Given the description of an element on the screen output the (x, y) to click on. 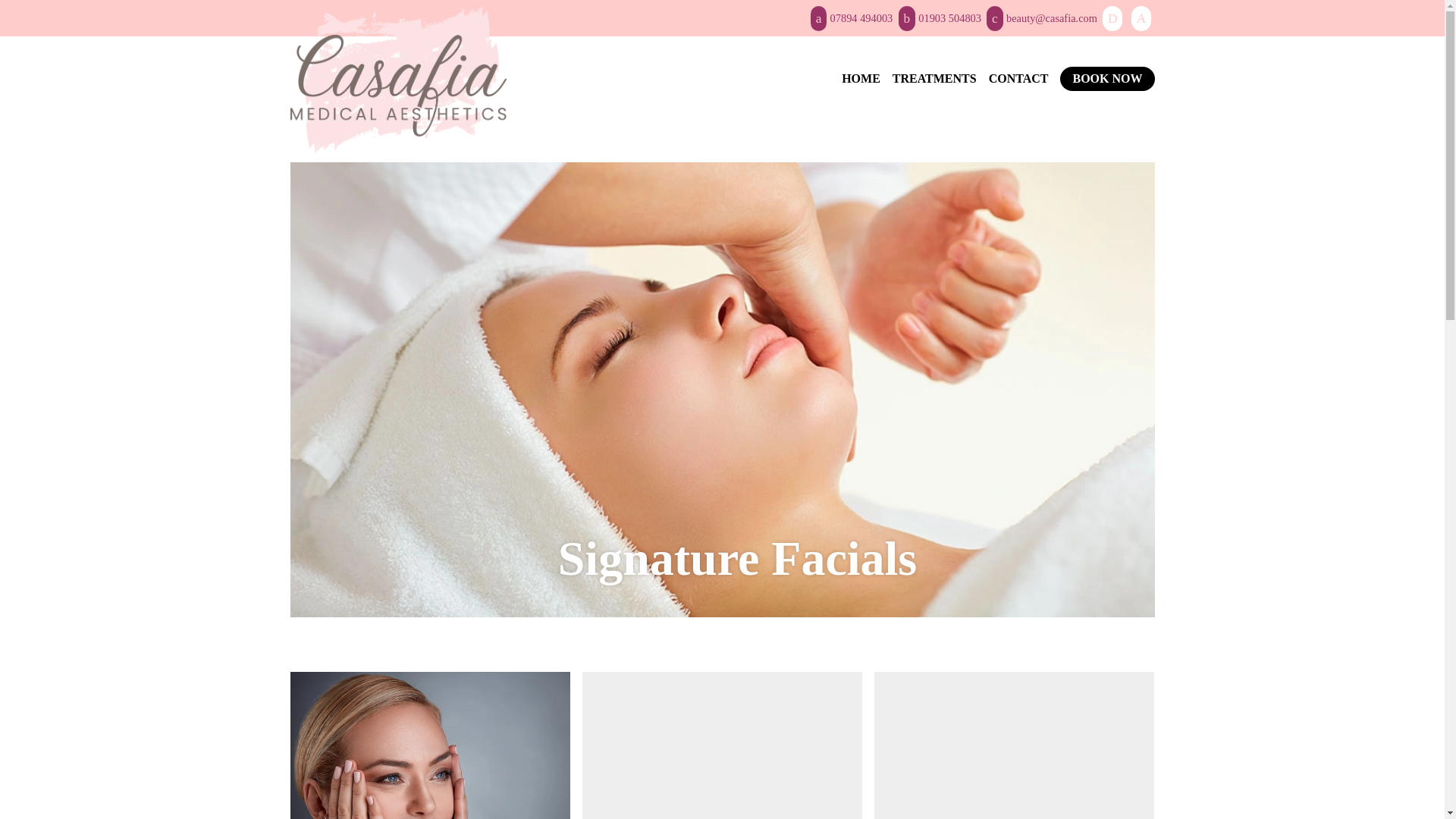
Contact (1018, 78)
Choosing a Practitioner (1014, 745)
07894 494003 (851, 18)
01903 504803 (939, 18)
CONTACT (1018, 78)
Treatments (934, 78)
Look Your Best (1014, 745)
Aesthetic Medical Approaches to Improve Your Skin (721, 745)
Home (860, 78)
Signature Facials (737, 558)
